Given the description of an element on the screen output the (x, y) to click on. 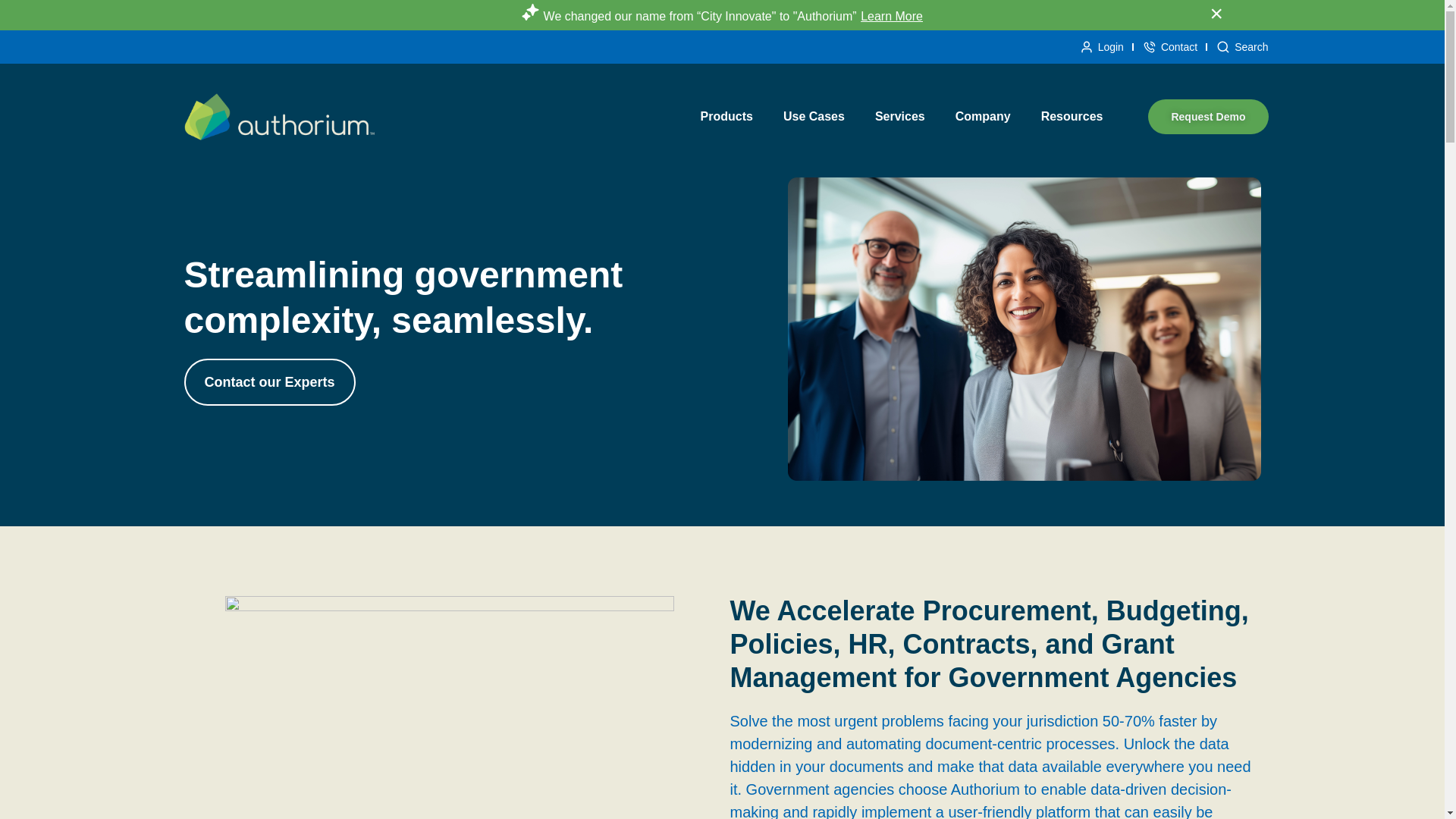
Contact (1168, 47)
Login (1101, 47)
Search (1241, 47)
Company (983, 116)
Products (726, 116)
Use Cases (814, 116)
Services (900, 116)
Learn More (891, 15)
